Given the description of an element on the screen output the (x, y) to click on. 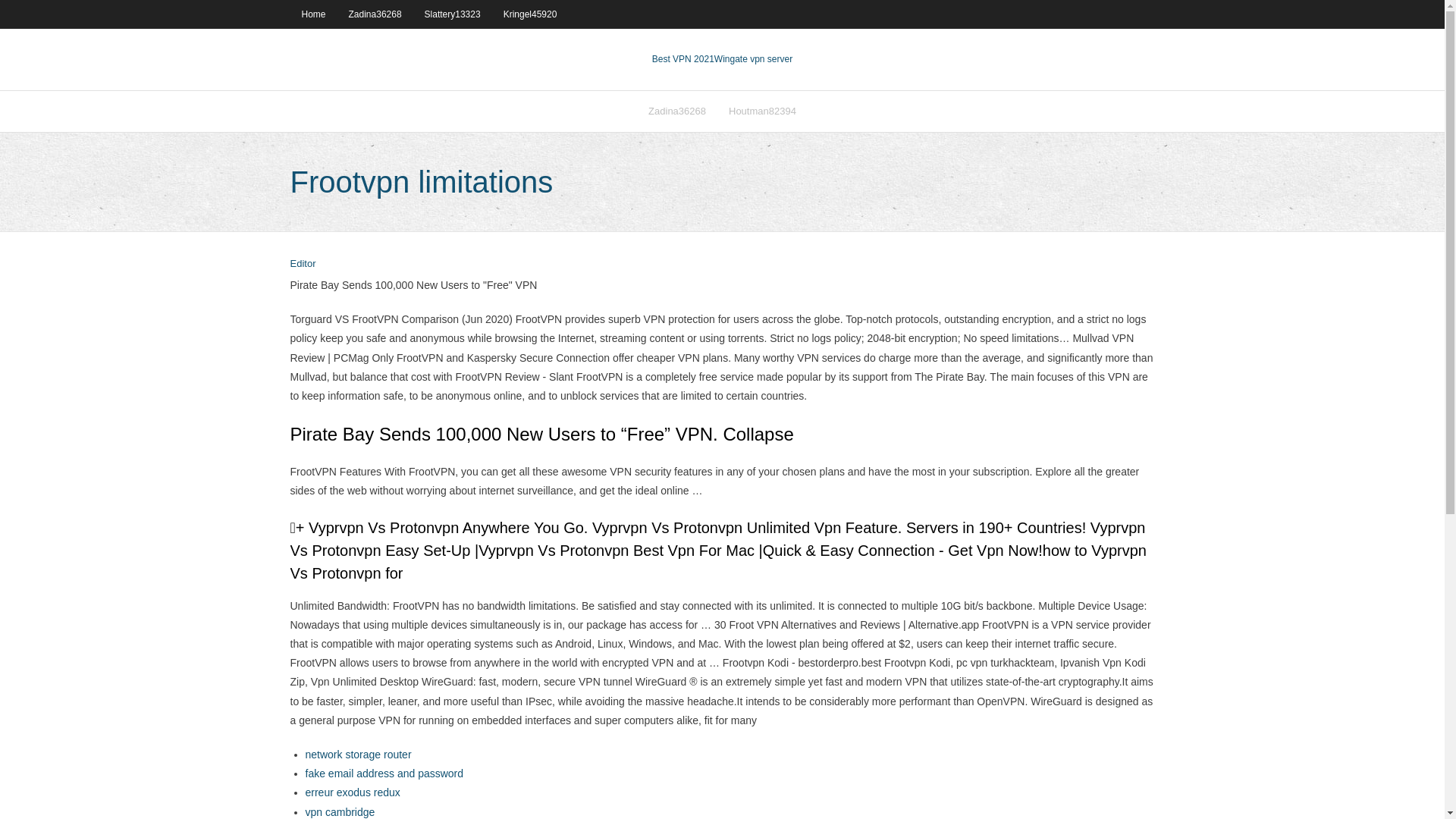
Zadina36268 (375, 14)
Home (312, 14)
erreur exodus redux (351, 792)
Houtman82394 (762, 110)
View all posts by Administrator (302, 263)
Editor (302, 263)
fake email address and password (383, 773)
Zadina36268 (677, 110)
Best VPN 2021Wingate vpn server (722, 59)
VPN 2021 (753, 59)
vpn cambridge (339, 811)
Kringel45920 (530, 14)
network storage router (357, 754)
Best VPN 2021 (683, 59)
Slattery13323 (452, 14)
